Given the description of an element on the screen output the (x, y) to click on. 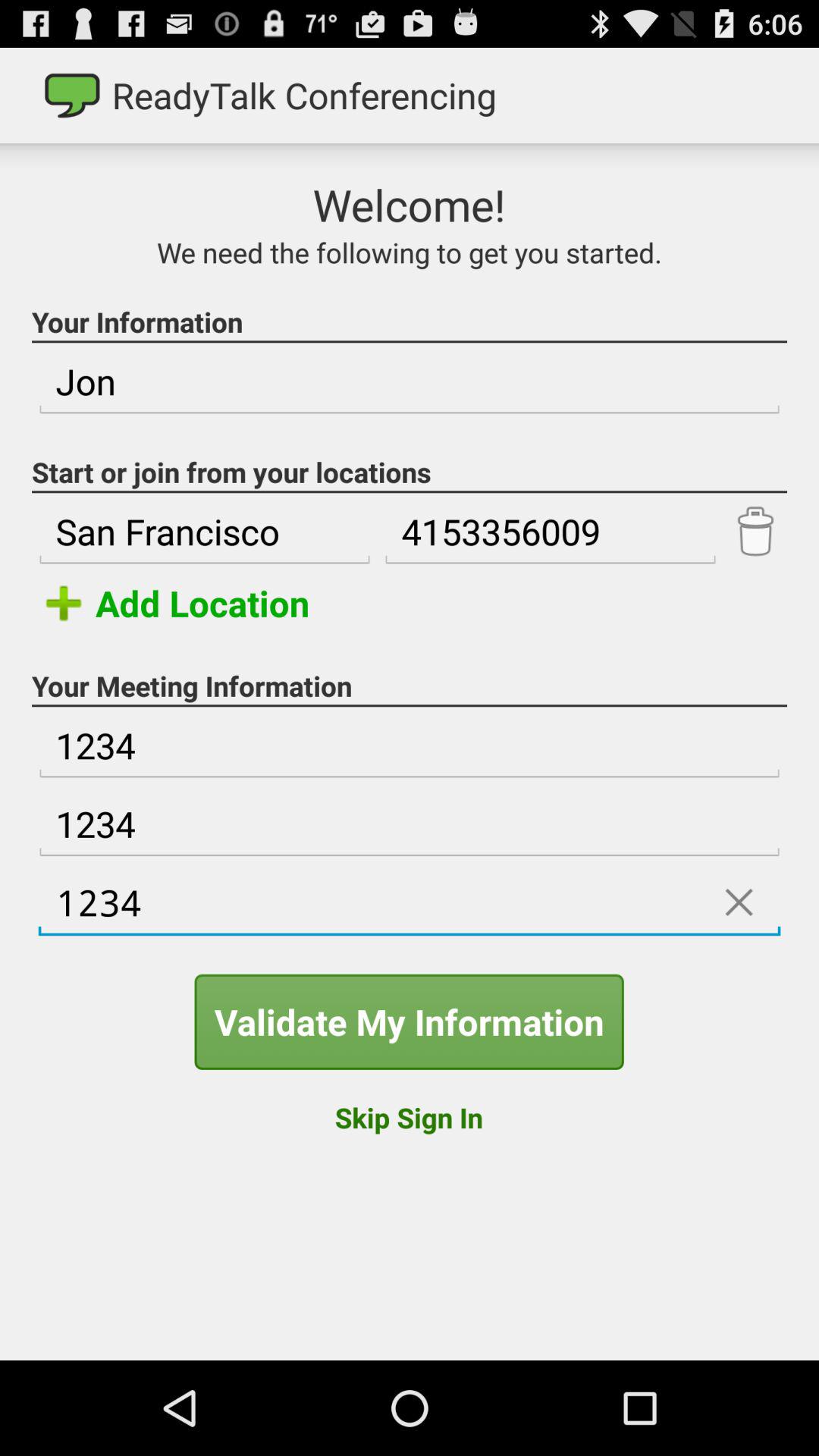
open icon to the left of the 4153356009 (204, 532)
